Given the description of an element on the screen output the (x, y) to click on. 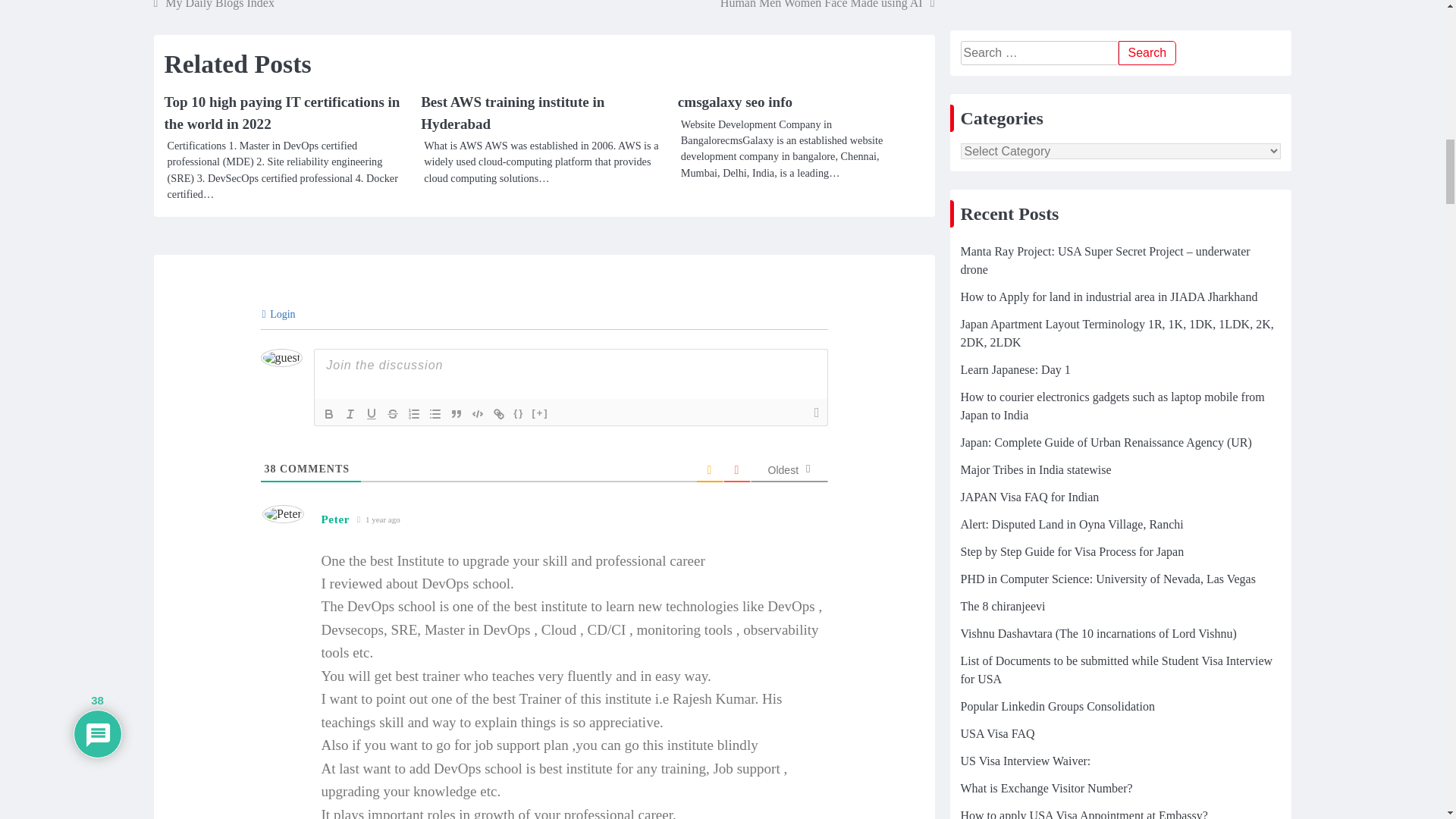
Blockquote (456, 413)
Human Men Women Face Made using AI (827, 6)
ordered (414, 413)
Code Block (477, 413)
Login (278, 313)
Bold (328, 413)
Spoiler (539, 413)
Underline (371, 413)
Source Code (518, 413)
cmsgalaxy seo info (735, 101)
Best AWS training institute in Hyderabad (512, 112)
Unordered List (435, 413)
My Daily Blogs Index (212, 6)
Top 10 high paying IT certifications in the world in 2022 (280, 112)
Strike (392, 413)
